Given the description of an element on the screen output the (x, y) to click on. 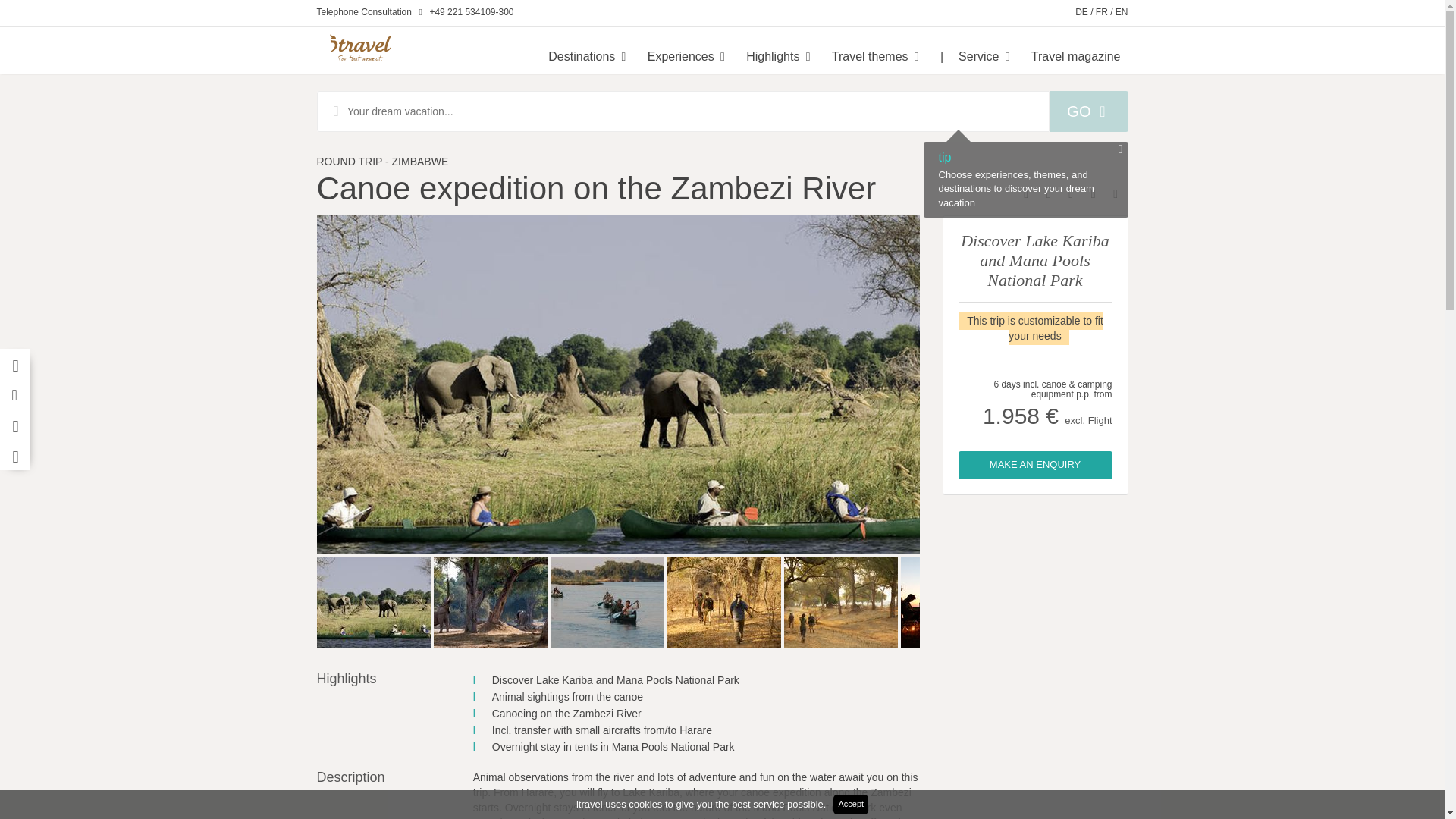
FR (1102, 11)
DE (1081, 11)
